Given the description of an element on the screen output the (x, y) to click on. 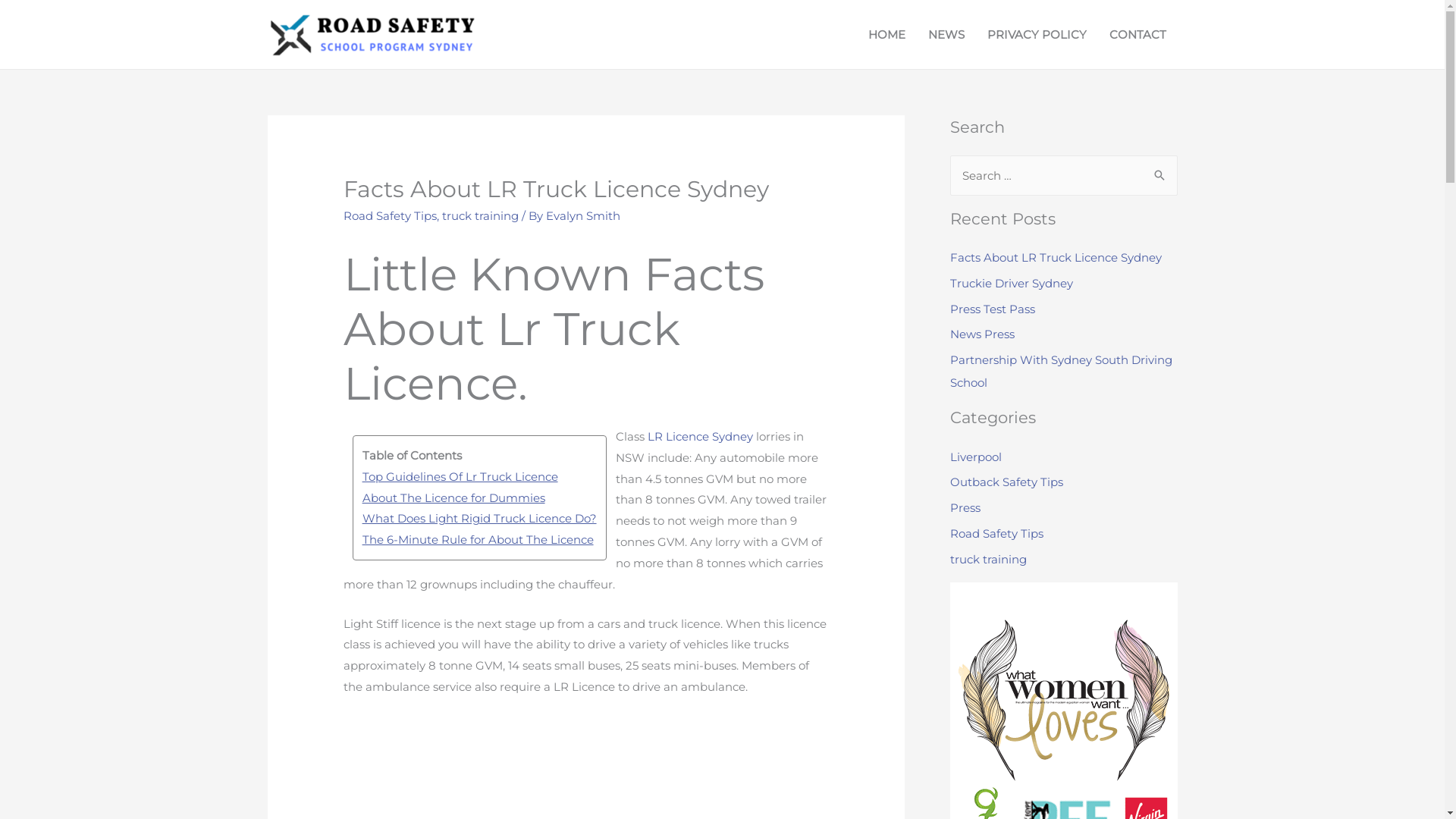
About The Licence for Dummies Element type: text (479, 497)
truck training Element type: text (480, 215)
Partnership With Sydney South Driving School Element type: text (1060, 370)
PRIVACY POLICY Element type: text (1036, 34)
Search Element type: text (1160, 174)
Outback Safety Tips Element type: text (1005, 481)
The 6-Minute Rule for About The Licence Element type: text (479, 539)
What Does Light Rigid Truck Licence Do? Element type: text (479, 518)
LR Licence Sydney Element type: text (700, 436)
HOME Element type: text (886, 34)
News Press Element type: text (981, 333)
CONTACT Element type: text (1137, 34)
NEWS Element type: text (945, 34)
Press Element type: text (964, 507)
Top Guidelines Of Lr Truck Licence Element type: text (479, 476)
Truckie Driver Sydney Element type: text (1010, 283)
Road Safety Tips Element type: text (389, 215)
Liverpool Element type: text (975, 455)
Evalyn Smith Element type: text (583, 215)
Road Safety Tips Element type: text (995, 533)
Press Test Pass Element type: text (991, 308)
Facts About LR Truck Licence Sydney Element type: text (1055, 257)
truck training Element type: text (987, 559)
